Given the description of an element on the screen output the (x, y) to click on. 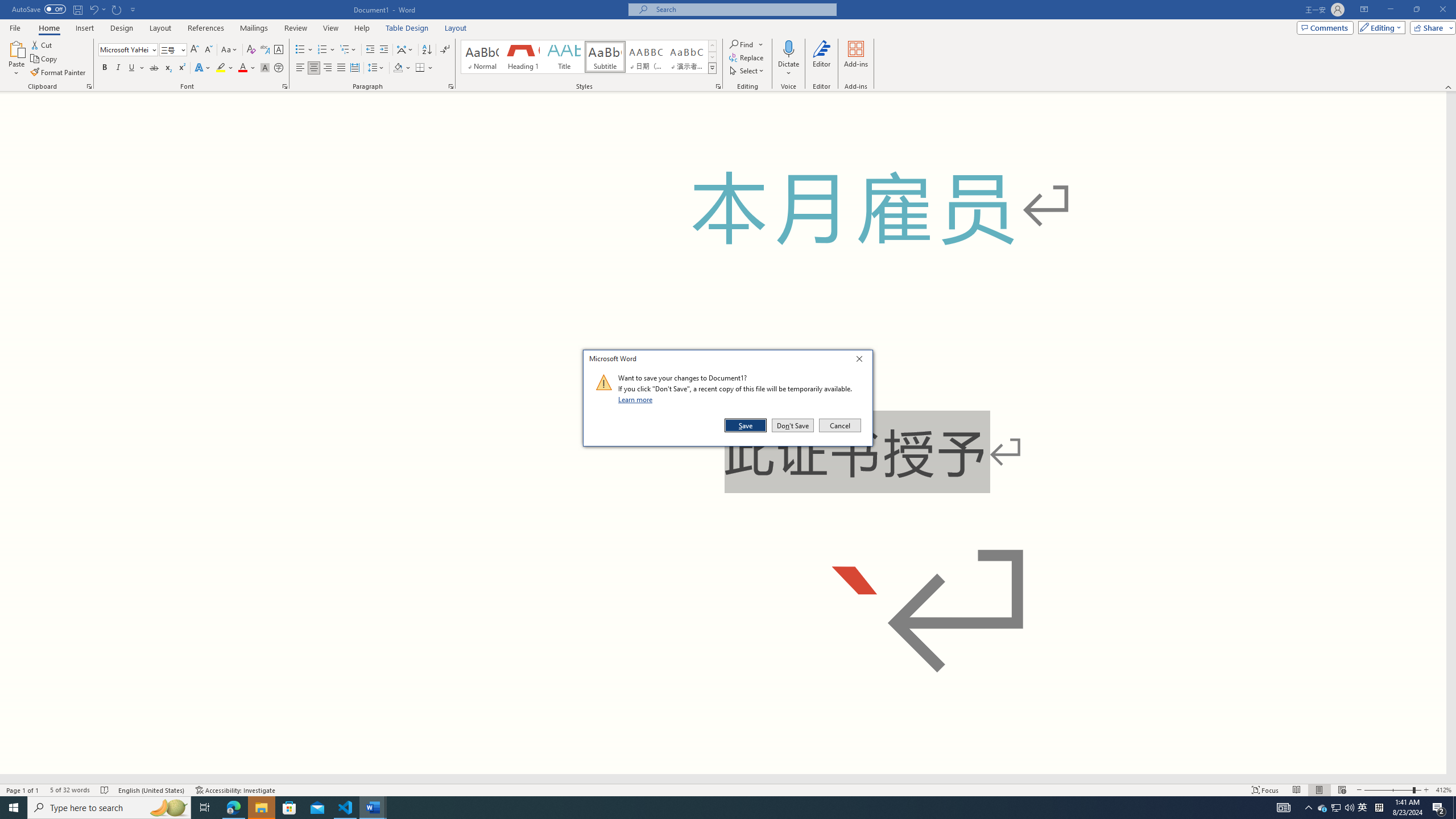
Undo Superscript (96, 9)
Microsoft Edge - 1 running window (233, 807)
Spelling and Grammar Check No Errors (105, 790)
